Given the description of an element on the screen output the (x, y) to click on. 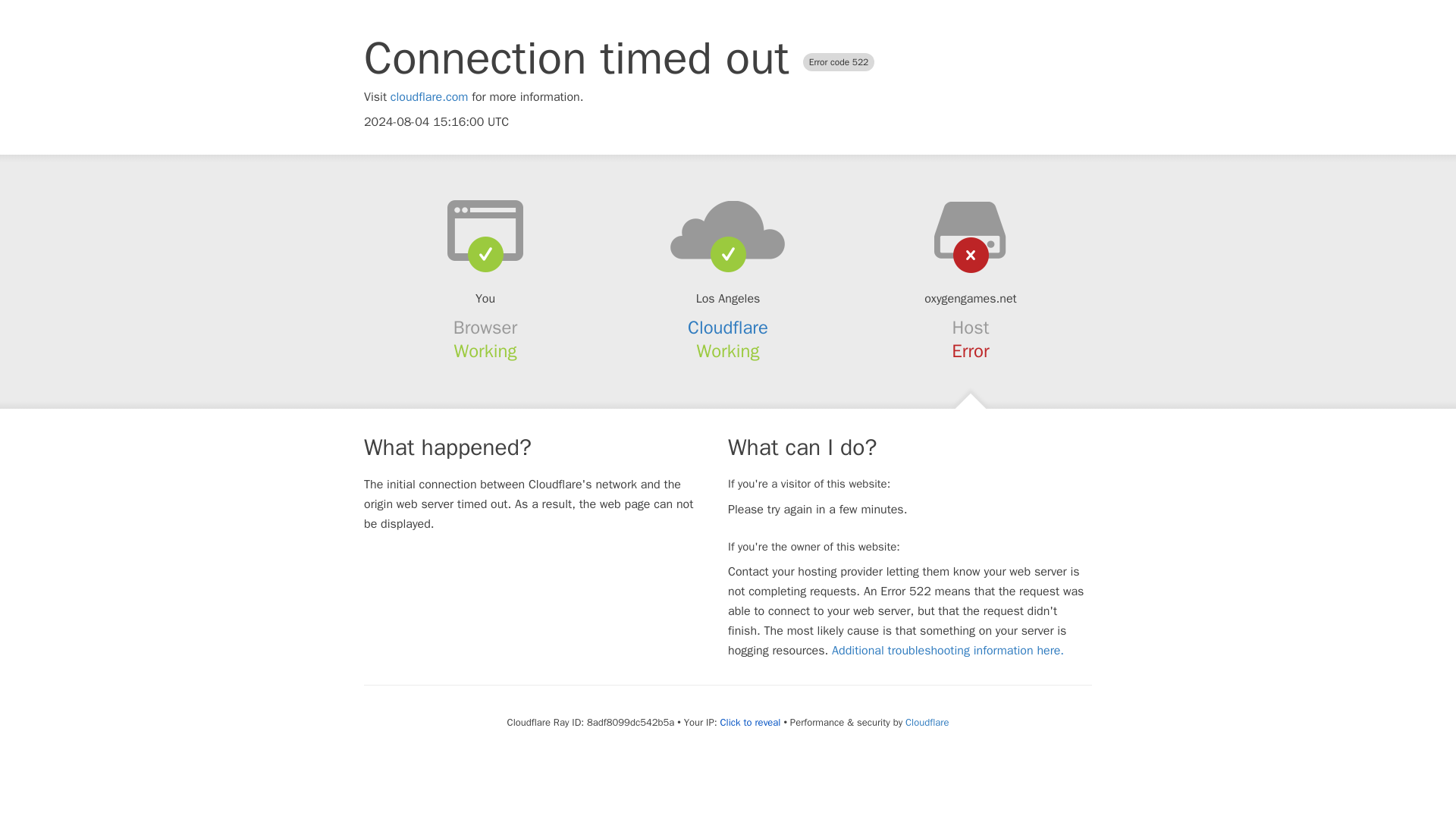
Cloudflare (927, 721)
Click to reveal (750, 722)
Cloudflare (727, 327)
cloudflare.com (429, 96)
Additional troubleshooting information here. (947, 650)
